Given the description of an element on the screen output the (x, y) to click on. 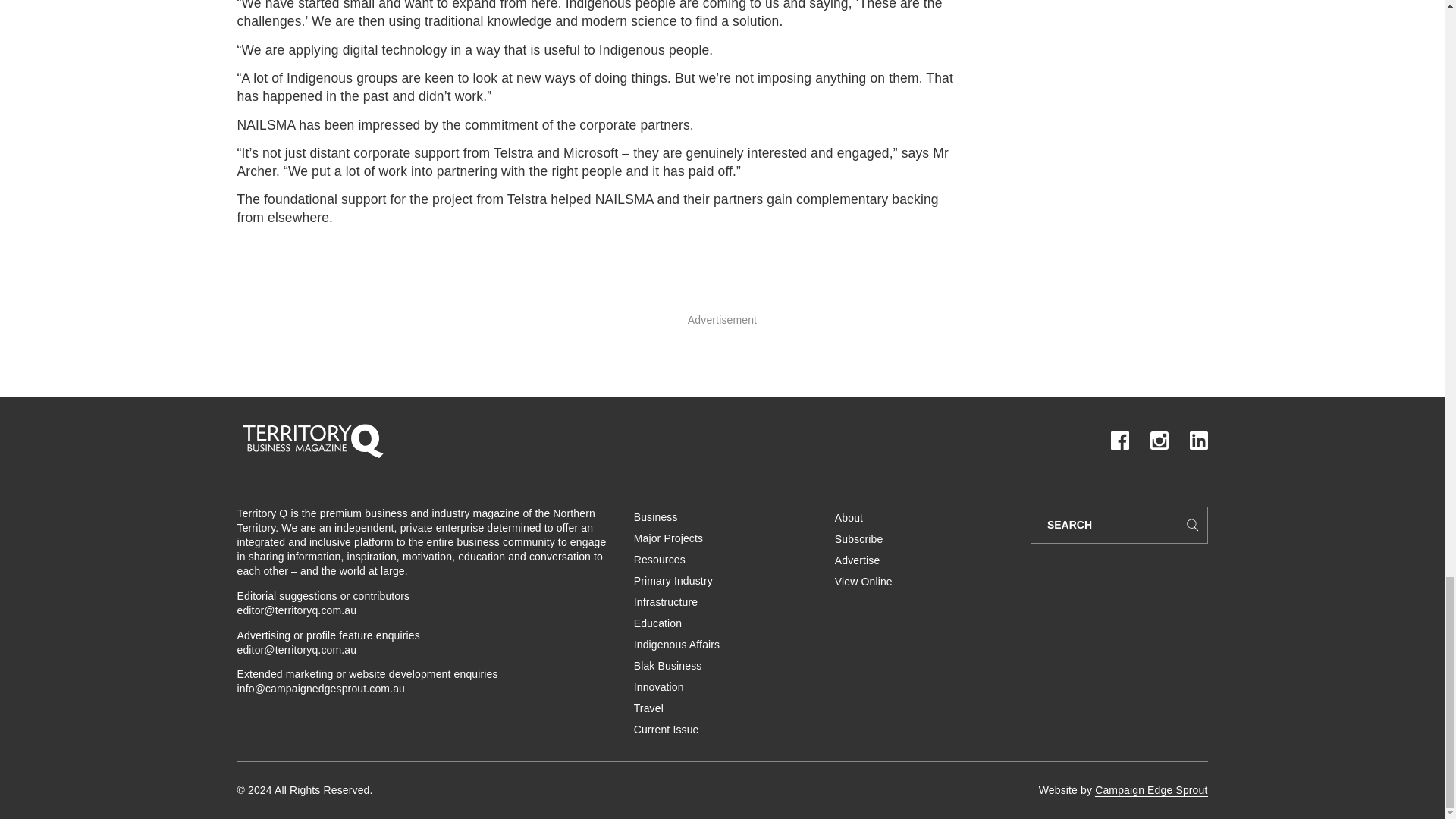
LinkedIn (1198, 439)
Instagram (1158, 439)
Facebook (1118, 439)
Send us an email (319, 688)
